Given the description of an element on the screen output the (x, y) to click on. 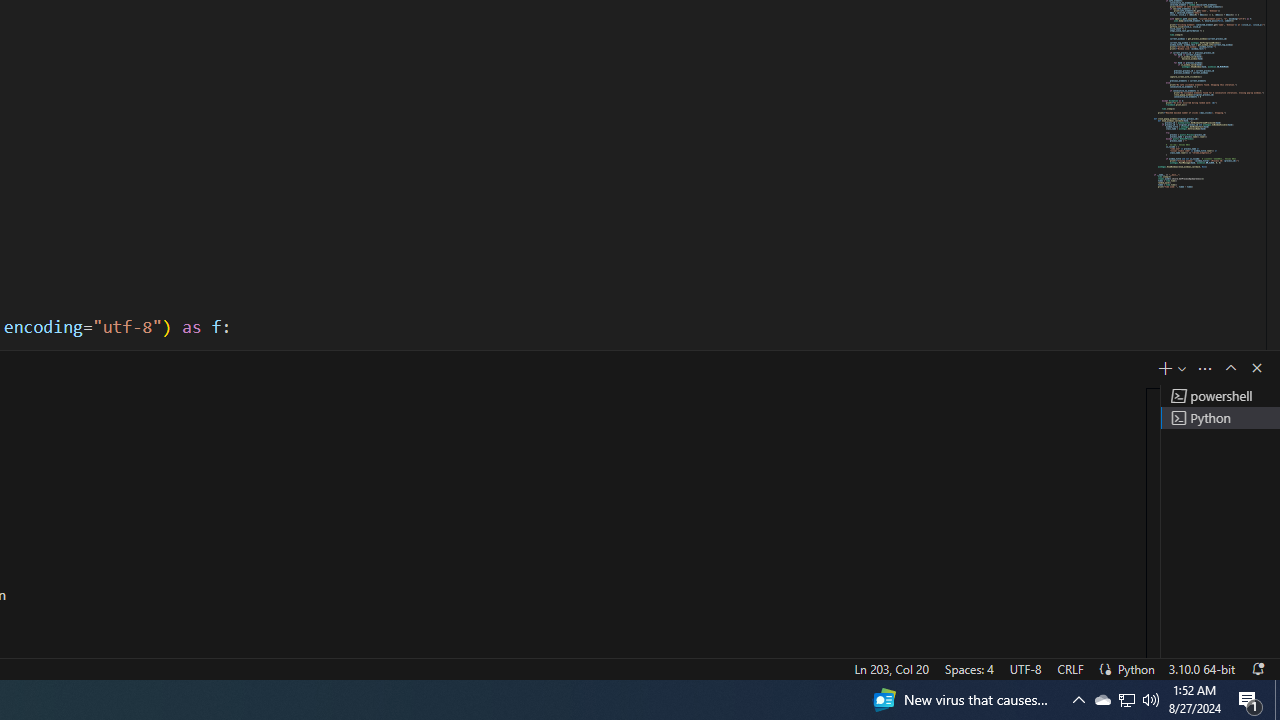
Terminal 1 powershell (1220, 395)
Terminal 3 Python (1220, 417)
Maximize Panel Size (1230, 367)
Python (1135, 668)
Spaces: 4 (968, 668)
CRLF (1070, 668)
Launch Profile... (1181, 368)
Views and More Actions... (1205, 368)
UTF-8 (1025, 668)
Ln 203, Col 20 (891, 668)
Hide Panel (1256, 367)
